Given the description of an element on the screen output the (x, y) to click on. 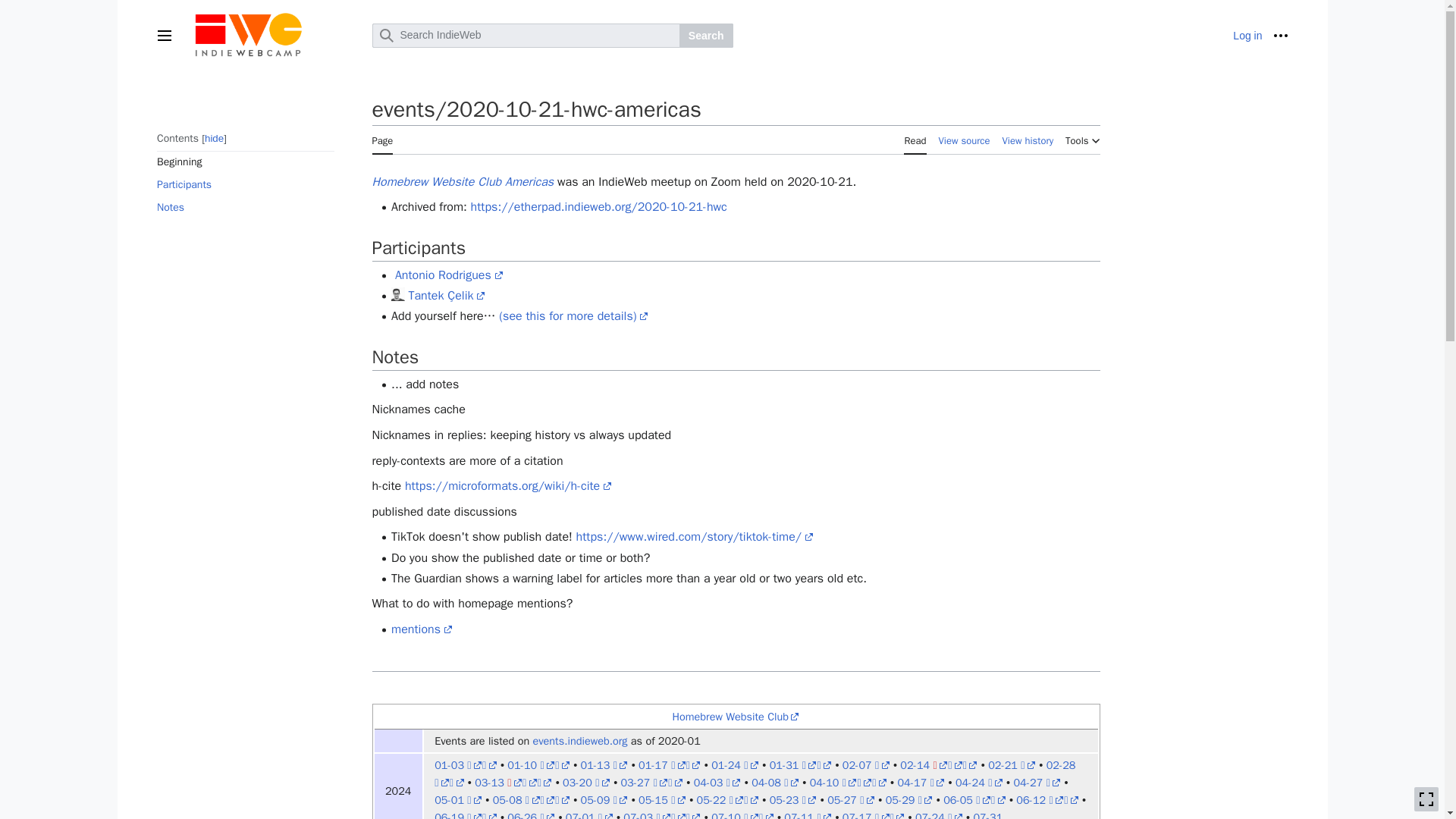
Notes (244, 207)
Beginning (244, 161)
Search (706, 34)
Log in (1247, 34)
More options (1280, 34)
hide (214, 138)
Participants (244, 184)
